Given the description of an element on the screen output the (x, y) to click on. 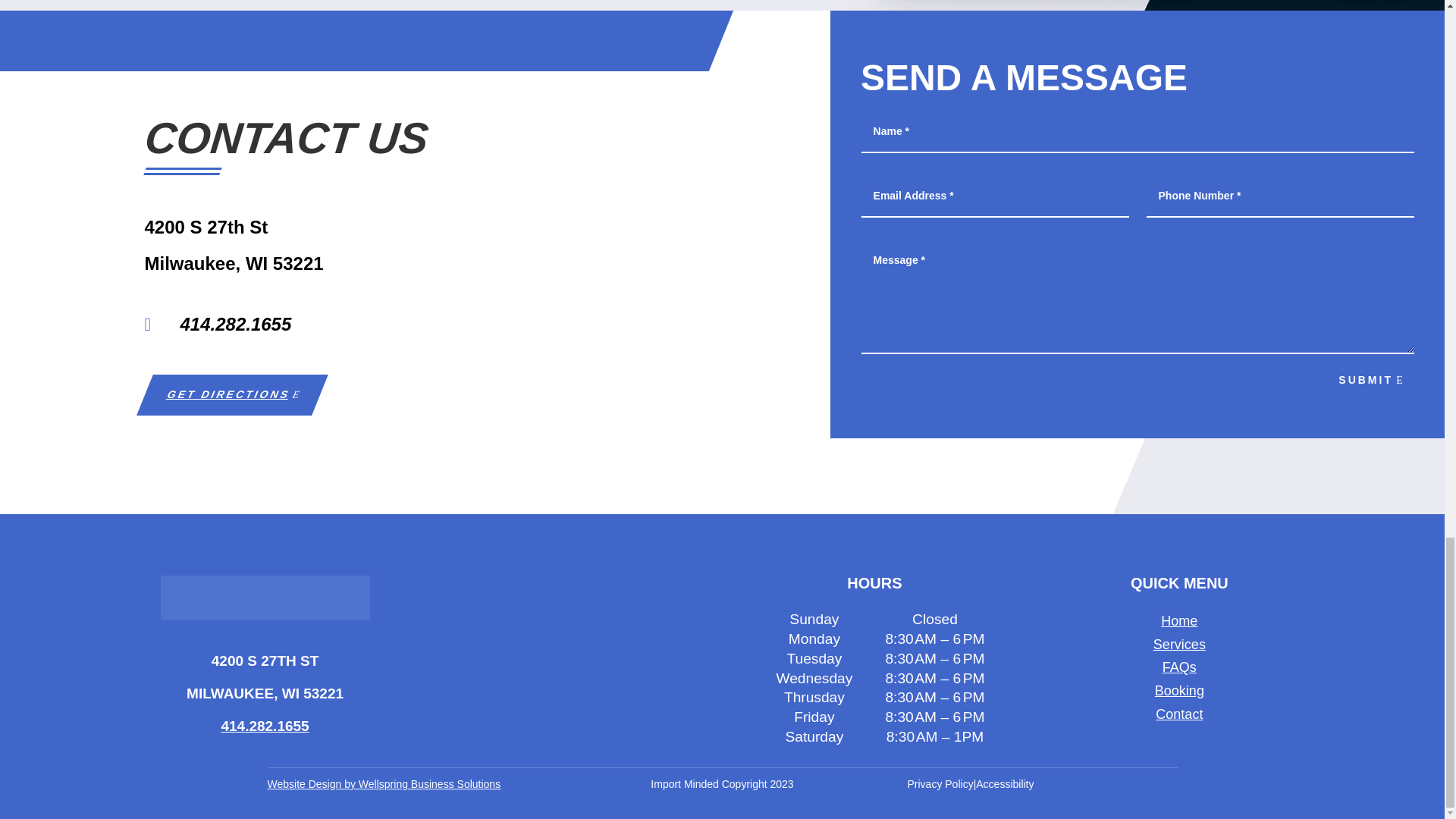
FAQs (1178, 667)
Only numbers allowed. (1280, 196)
Website Design by Wellspring Business Solutions (383, 784)
Contact (1179, 713)
import-logo 1 (264, 597)
Booking (1179, 690)
Home (1178, 620)
Services (1179, 644)
GET DIRECTIONS (223, 394)
414.282.1655 (264, 725)
SUBMIT (1372, 380)
